Given the description of an element on the screen output the (x, y) to click on. 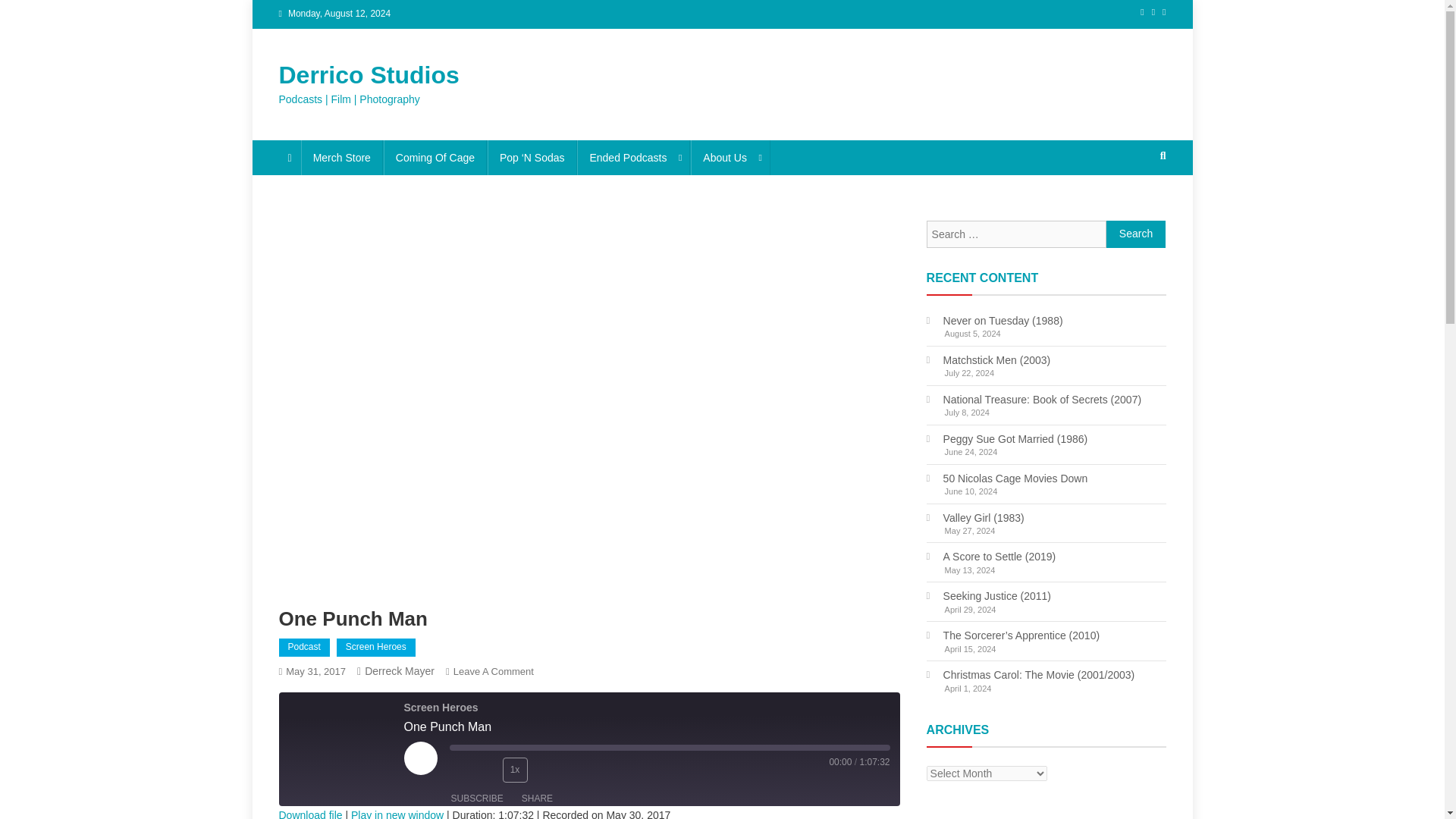
Coming Of Cage (435, 157)
Search (1136, 234)
Fast Forward 30 seconds (546, 769)
SHARE (536, 798)
Search (1136, 234)
Ended Podcasts (633, 157)
Derreck Mayer (399, 671)
Search (1133, 206)
SUBSCRIBE (476, 798)
Play (419, 758)
